Given the description of an element on the screen output the (x, y) to click on. 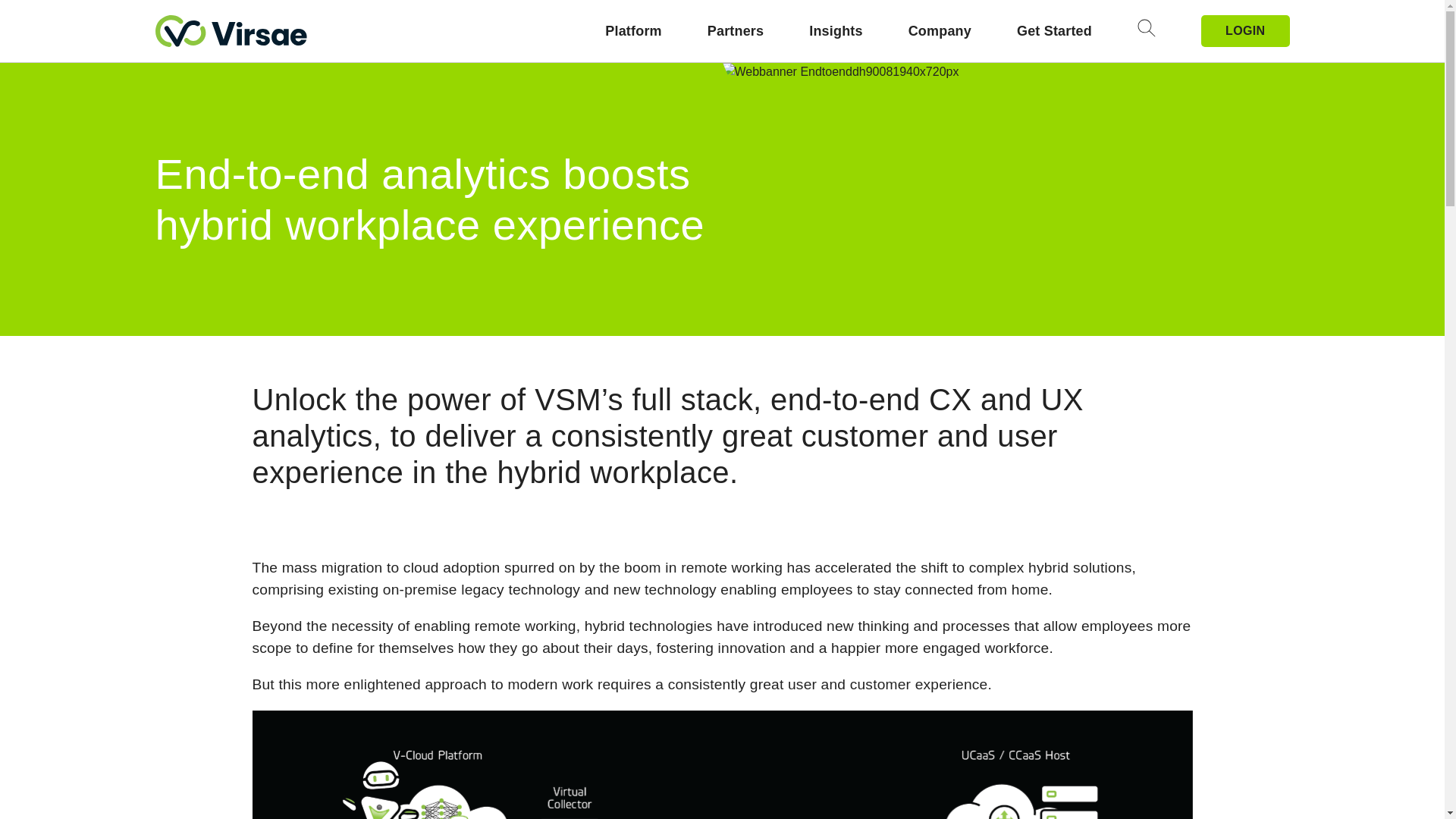
Insights (835, 31)
Partners (734, 31)
Get Started (1054, 31)
Company (939, 31)
Platform (633, 31)
LOGIN (1245, 30)
